Given the description of an element on the screen output the (x, y) to click on. 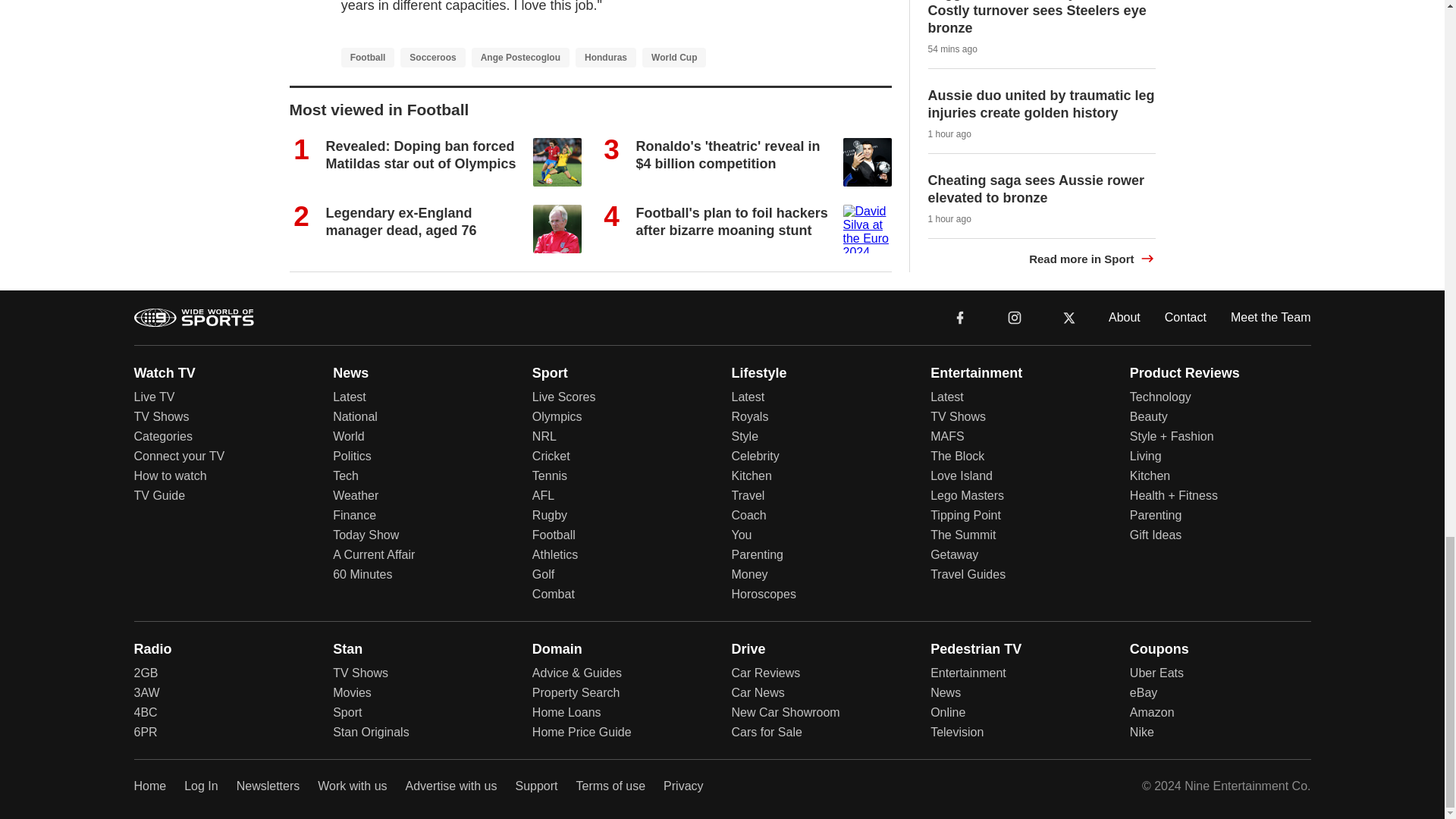
World Cup (674, 57)
Revealed: Doping ban forced Matildas star out of Olympics (421, 154)
instagram (1013, 316)
Ange Postecoglou (520, 57)
instagram (1014, 317)
Football (367, 57)
facebook (959, 316)
Legendary ex-England manager dead, aged 76 (401, 221)
x (1069, 316)
facebook (960, 317)
